Given the description of an element on the screen output the (x, y) to click on. 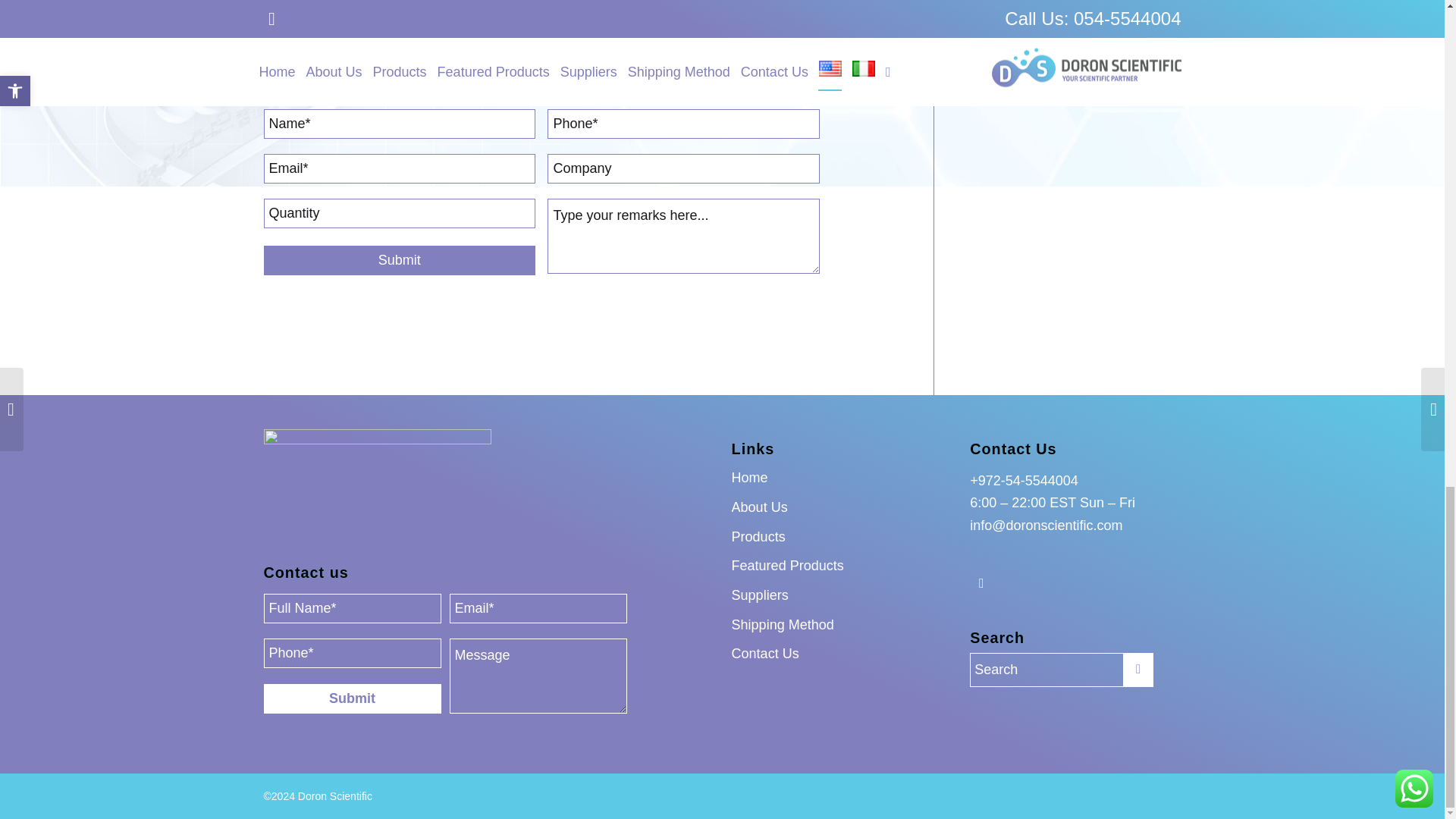
Submit (352, 698)
WhatsApp (980, 582)
EP-140 (682, 66)
Submit (399, 260)
